Given the description of an element on the screen output the (x, y) to click on. 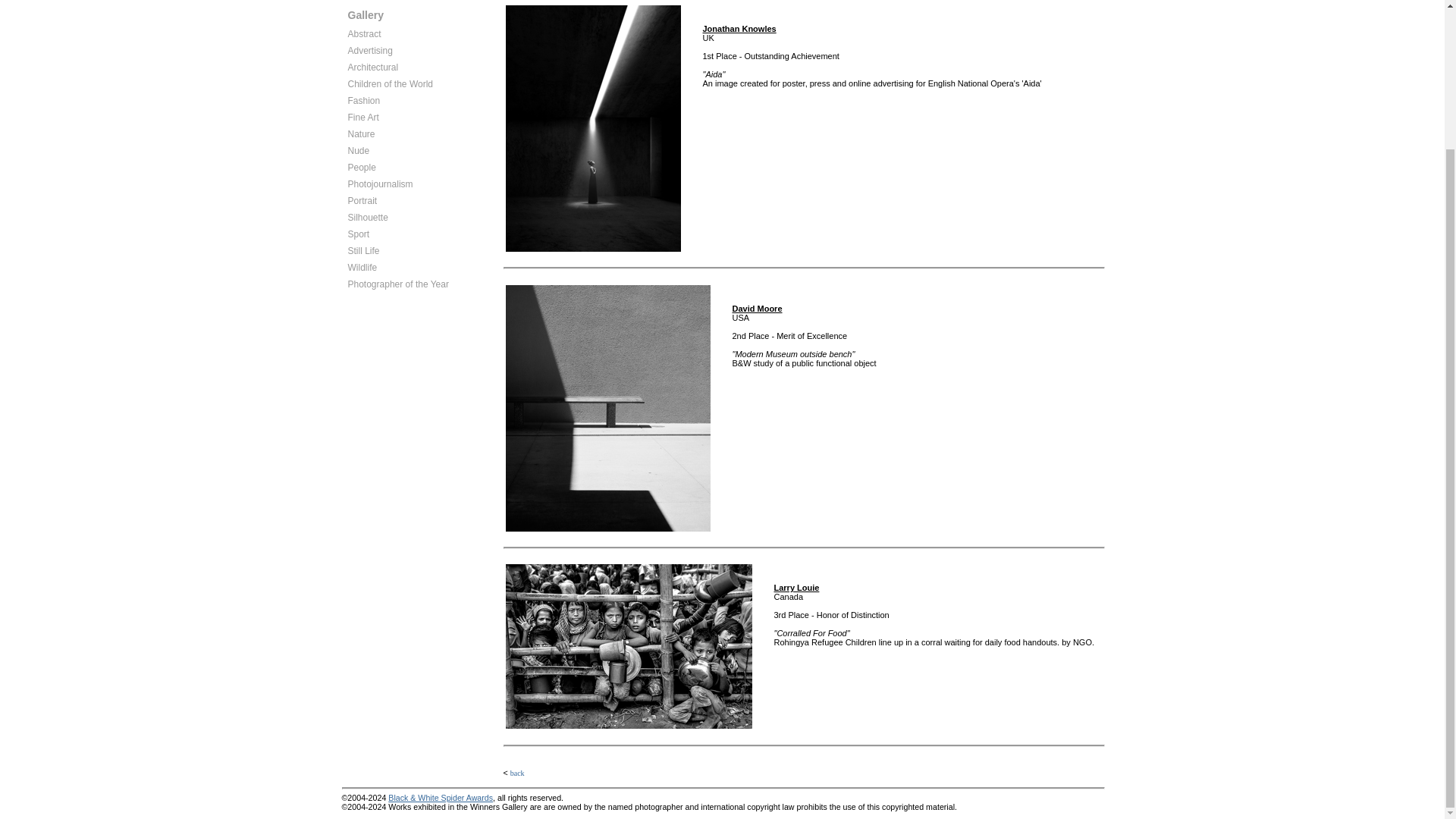
Jonathan Knowles, UK (738, 28)
Corralled For Food (628, 646)
David Moore, USA (757, 307)
Larry Louie, Canada (795, 587)
